Given the description of an element on the screen output the (x, y) to click on. 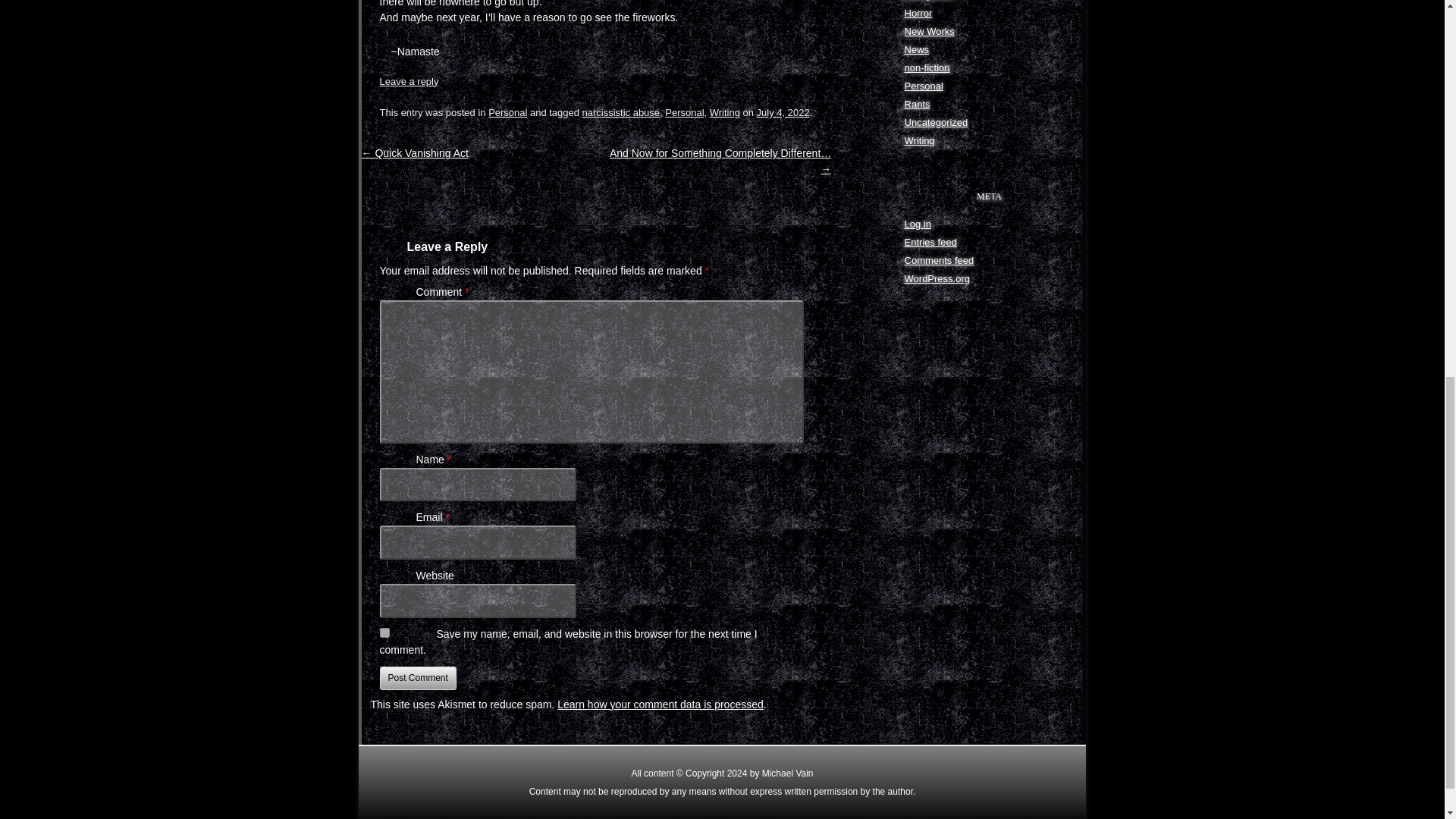
Post Comment (416, 678)
11:52 am (783, 112)
Personal (684, 112)
yes (383, 633)
Writing (724, 112)
Leave a reply (408, 81)
Learn how your comment data is processed (659, 704)
Personal (507, 112)
narcissistic abuse (620, 112)
Post Comment (416, 678)
